Given the description of an element on the screen output the (x, y) to click on. 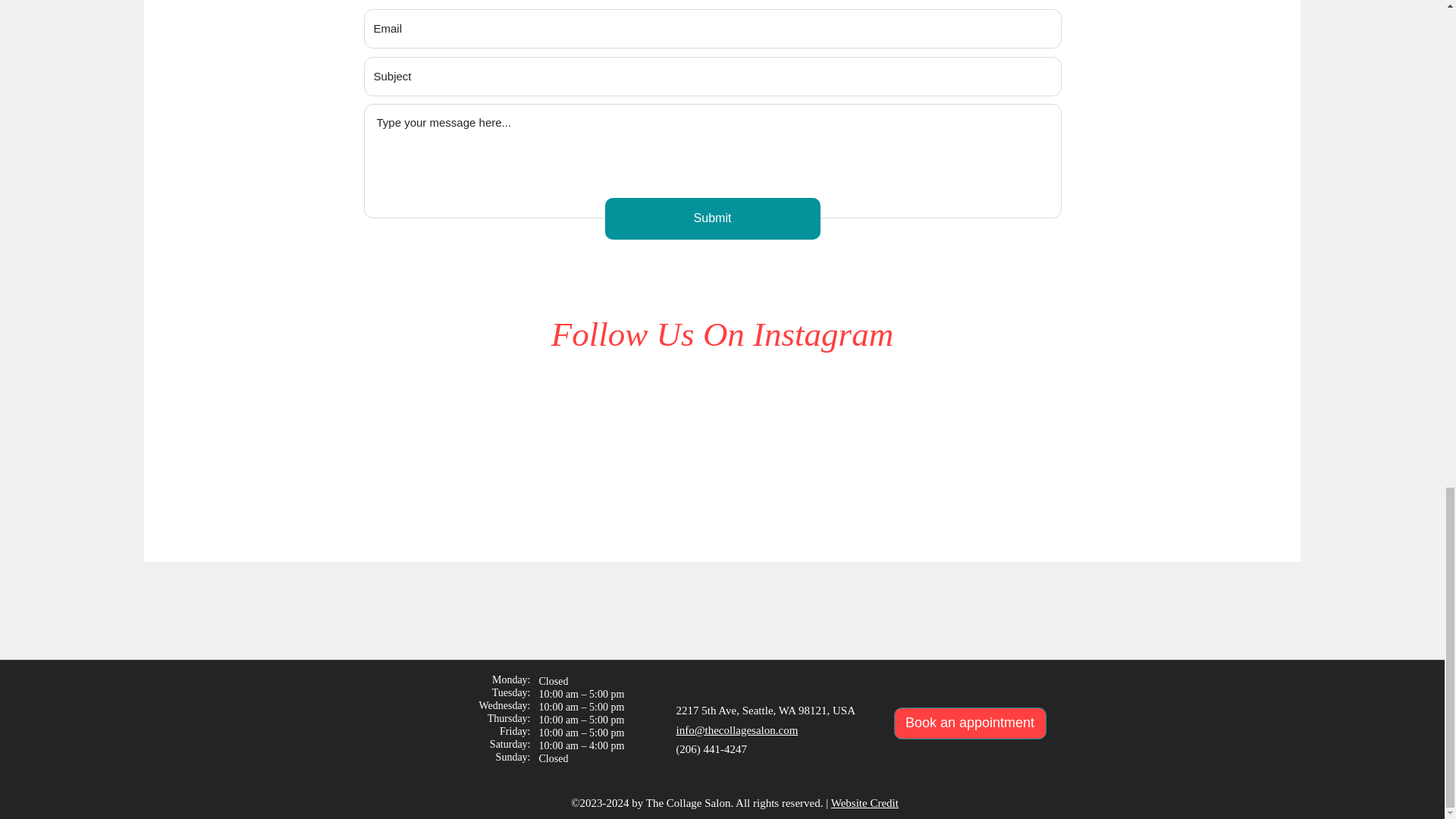
Submit (713, 218)
Book an appointment (969, 723)
Website Credit (864, 802)
